Given the description of an element on the screen output the (x, y) to click on. 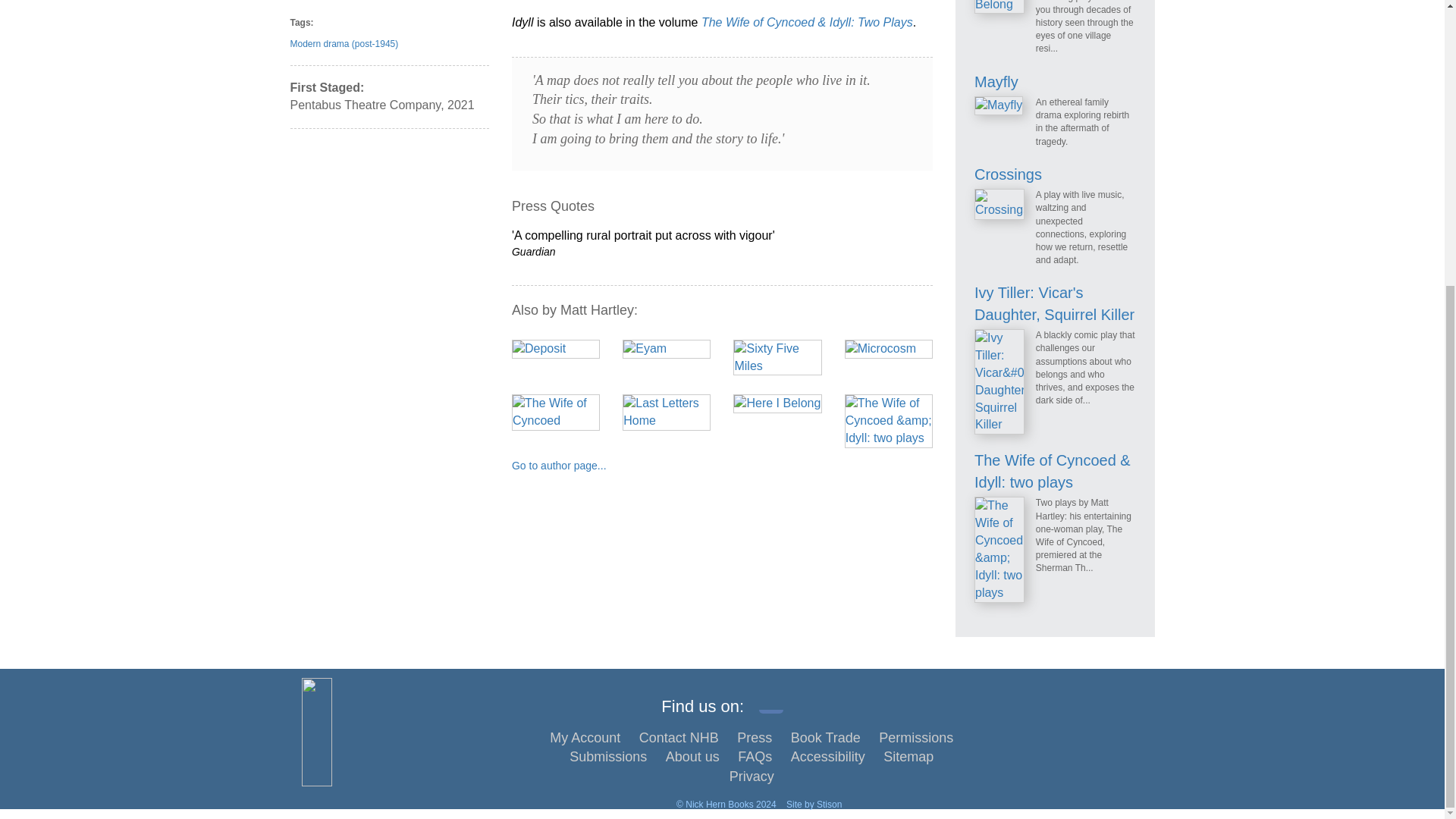
Facebook page (770, 700)
Instagram page (838, 700)
Twitter page (804, 700)
